Given the description of an element on the screen output the (x, y) to click on. 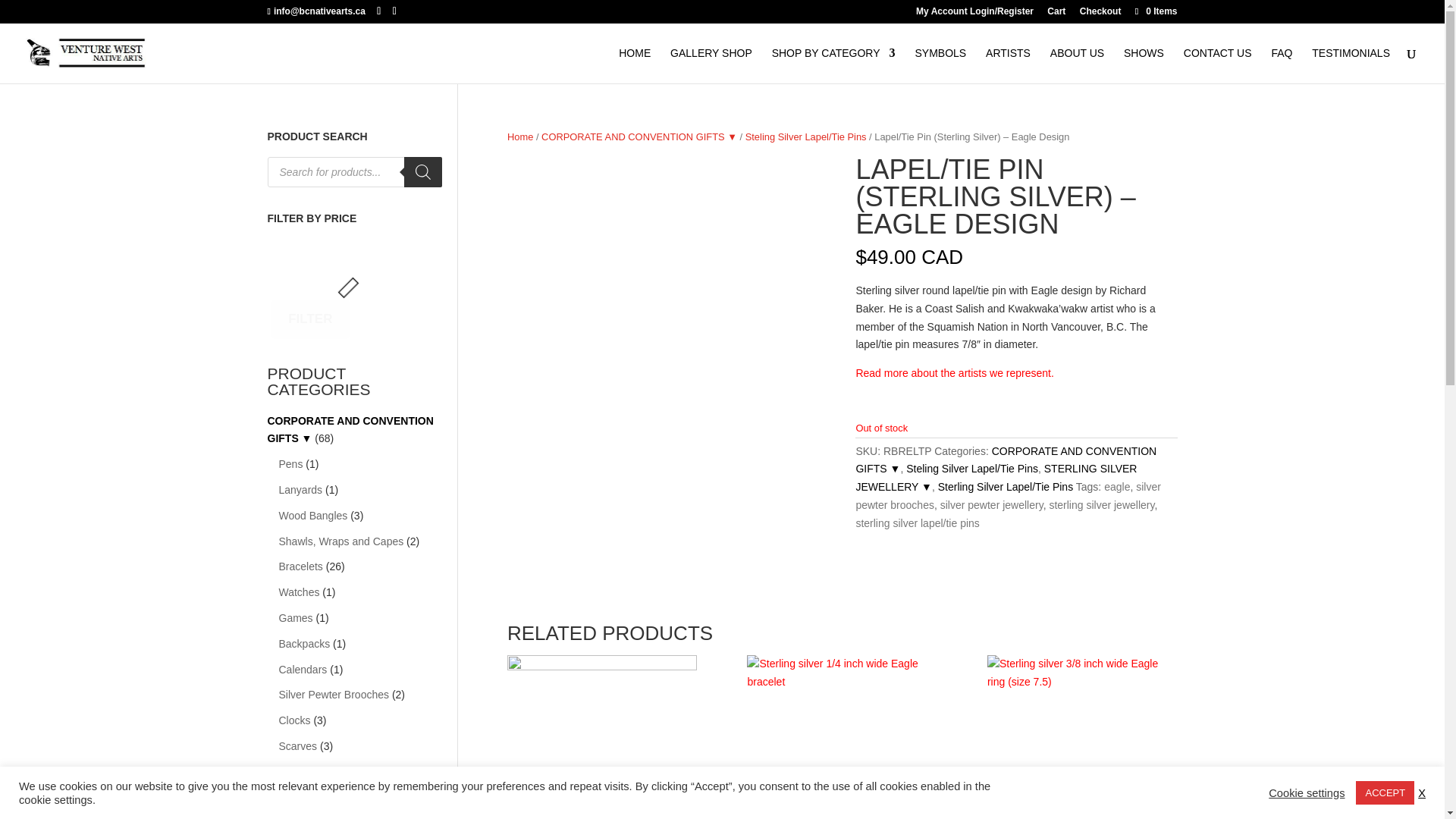
SHOP BY CATEGORY (833, 65)
0 Items (1154, 10)
GALLERY SHOP (710, 65)
Checkout (1100, 14)
Cart (1055, 14)
HOME (634, 65)
